Given the description of an element on the screen output the (x, y) to click on. 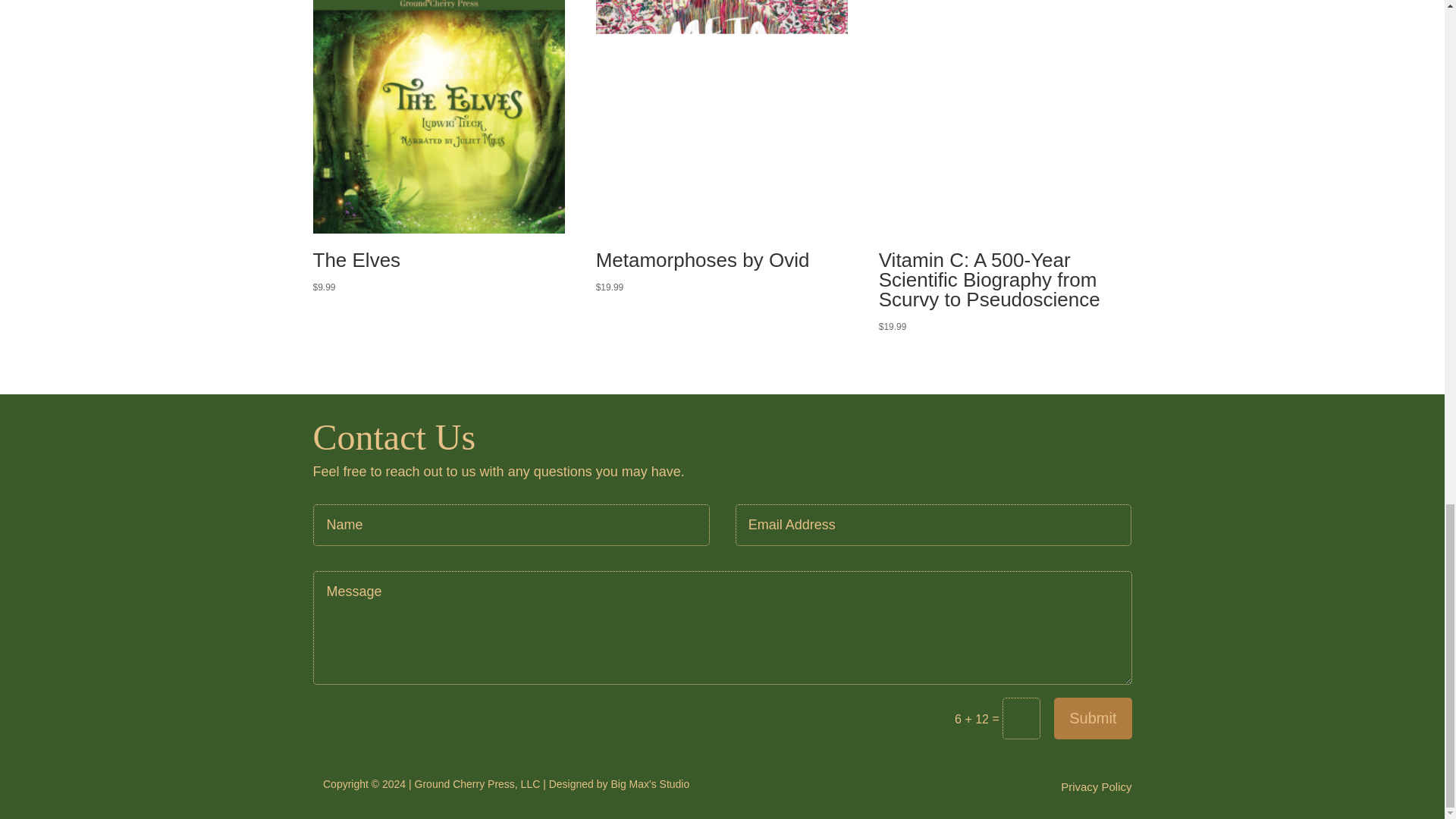
Submit (1092, 718)
Big Max's Studio (649, 784)
Privacy Policy (1096, 790)
